Given the description of an element on the screen output the (x, y) to click on. 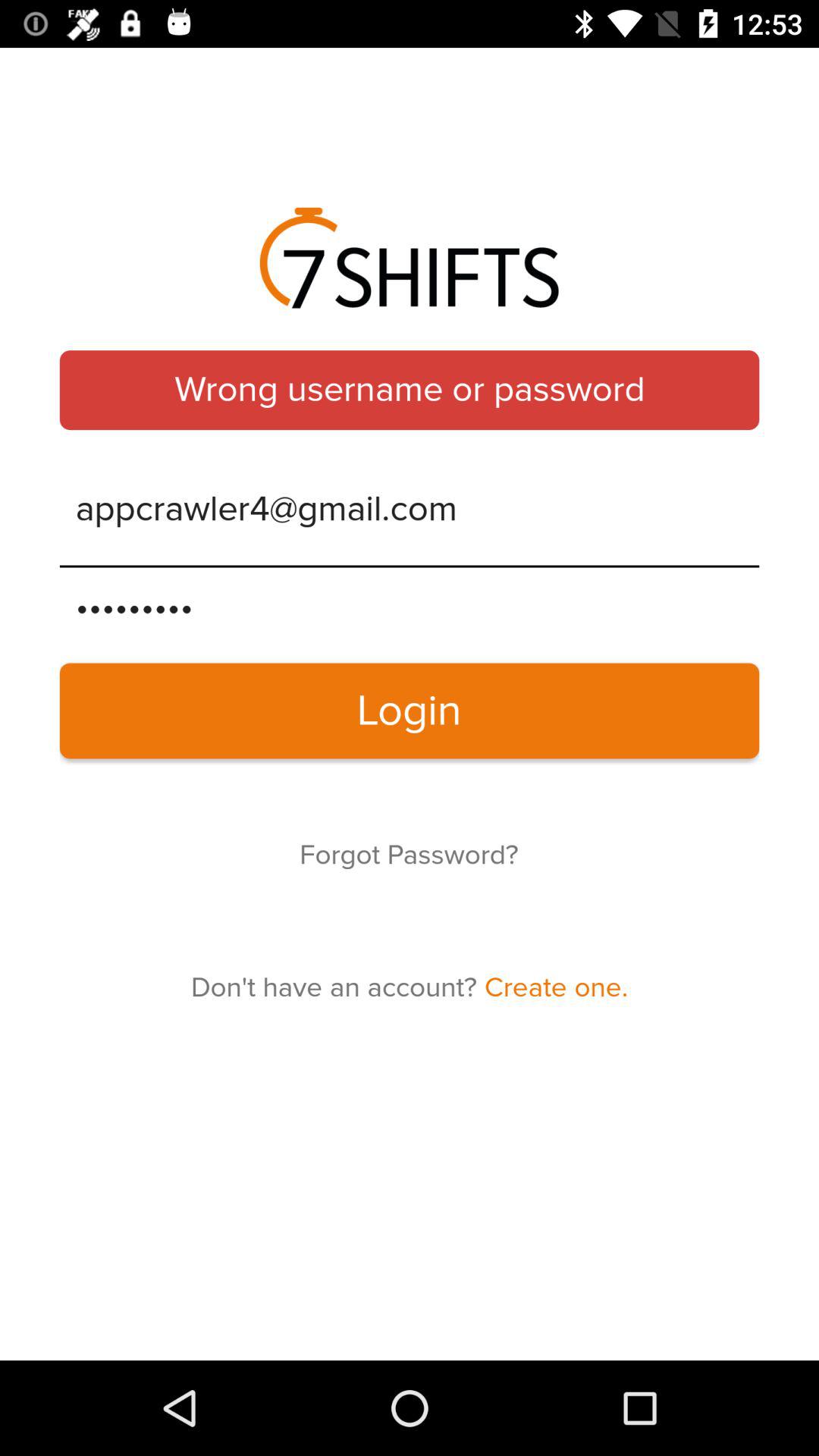
tap the login (409, 710)
